Given the description of an element on the screen output the (x, y) to click on. 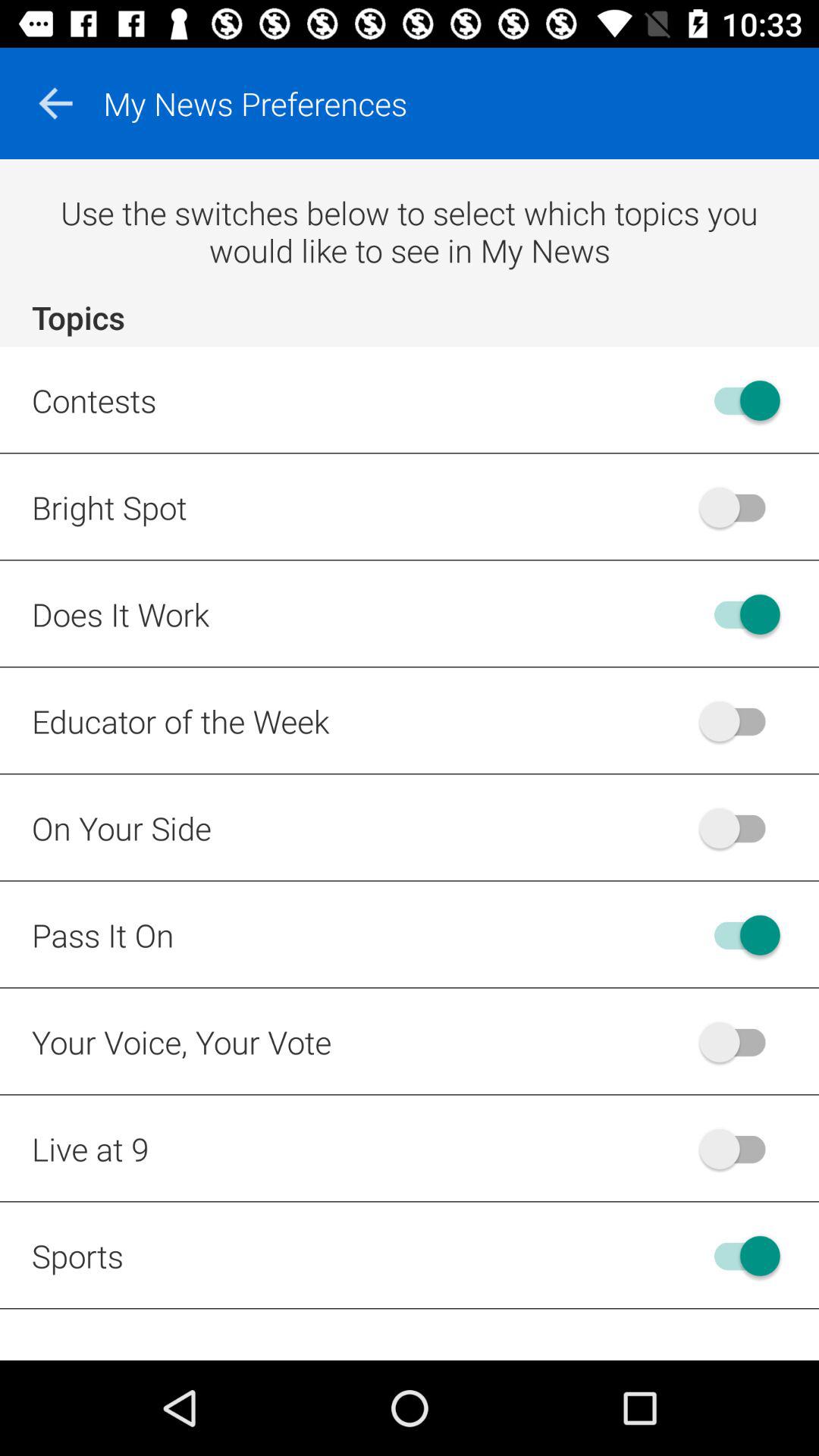
toggle button for sports (739, 1255)
